Given the description of an element on the screen output the (x, y) to click on. 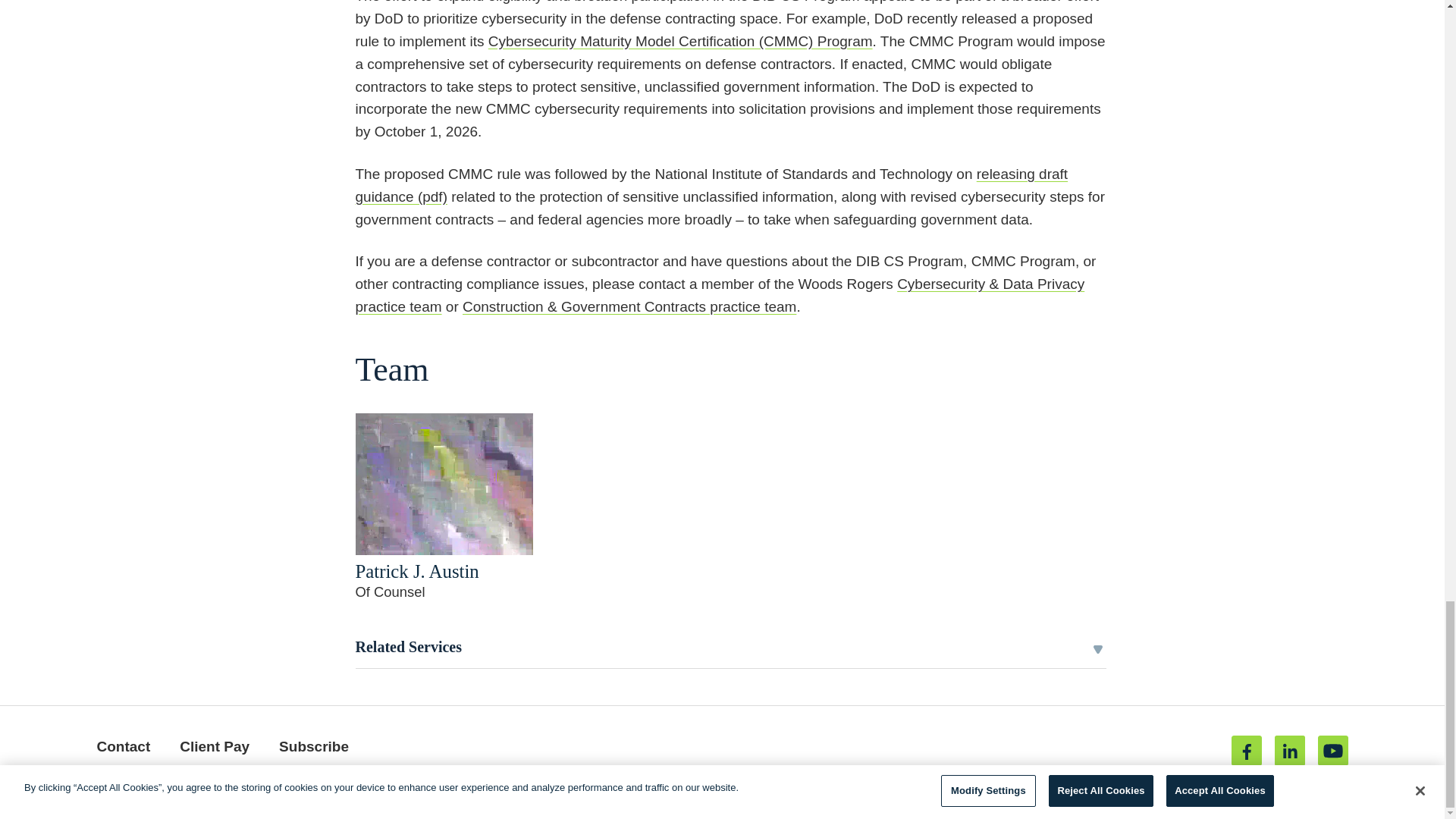
Youtube (1332, 750)
Jump to Page (673, 718)
Linkedin (1289, 750)
Related Services (730, 647)
Patrick J. Austin (417, 571)
Facebook (1246, 750)
